Given the description of an element on the screen output the (x, y) to click on. 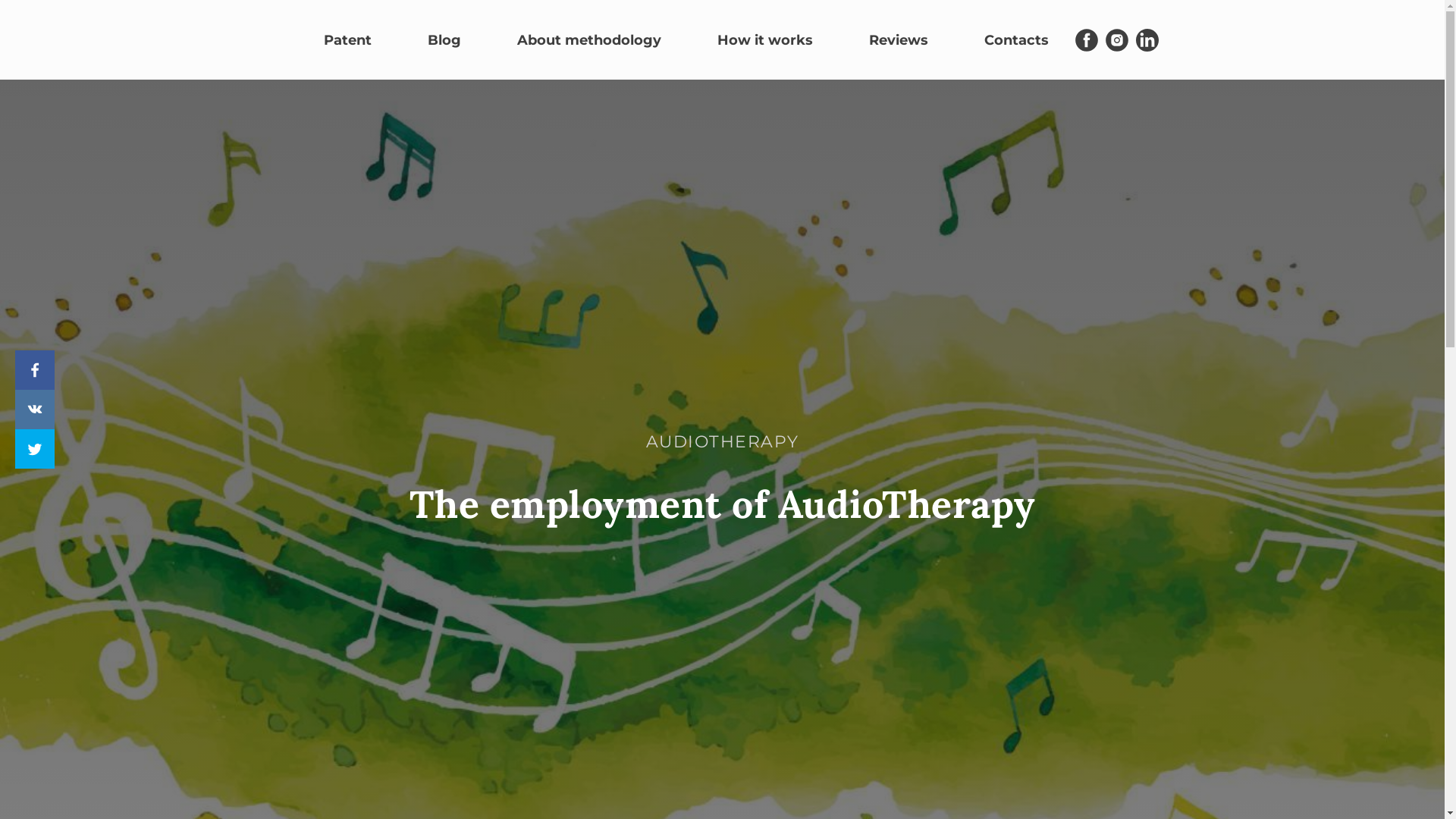
About methodology Element type: text (589, 39)
Facebook Element type: hover (34, 369)
How it works Element type: text (764, 39)
Twitter Element type: hover (34, 448)
Blog Element type: text (444, 39)
Patent Element type: text (346, 39)
Instagram Element type: text (1116, 39)
Reviews Element type: text (898, 39)
Contacts Element type: text (1016, 39)
